Given the description of an element on the screen output the (x, y) to click on. 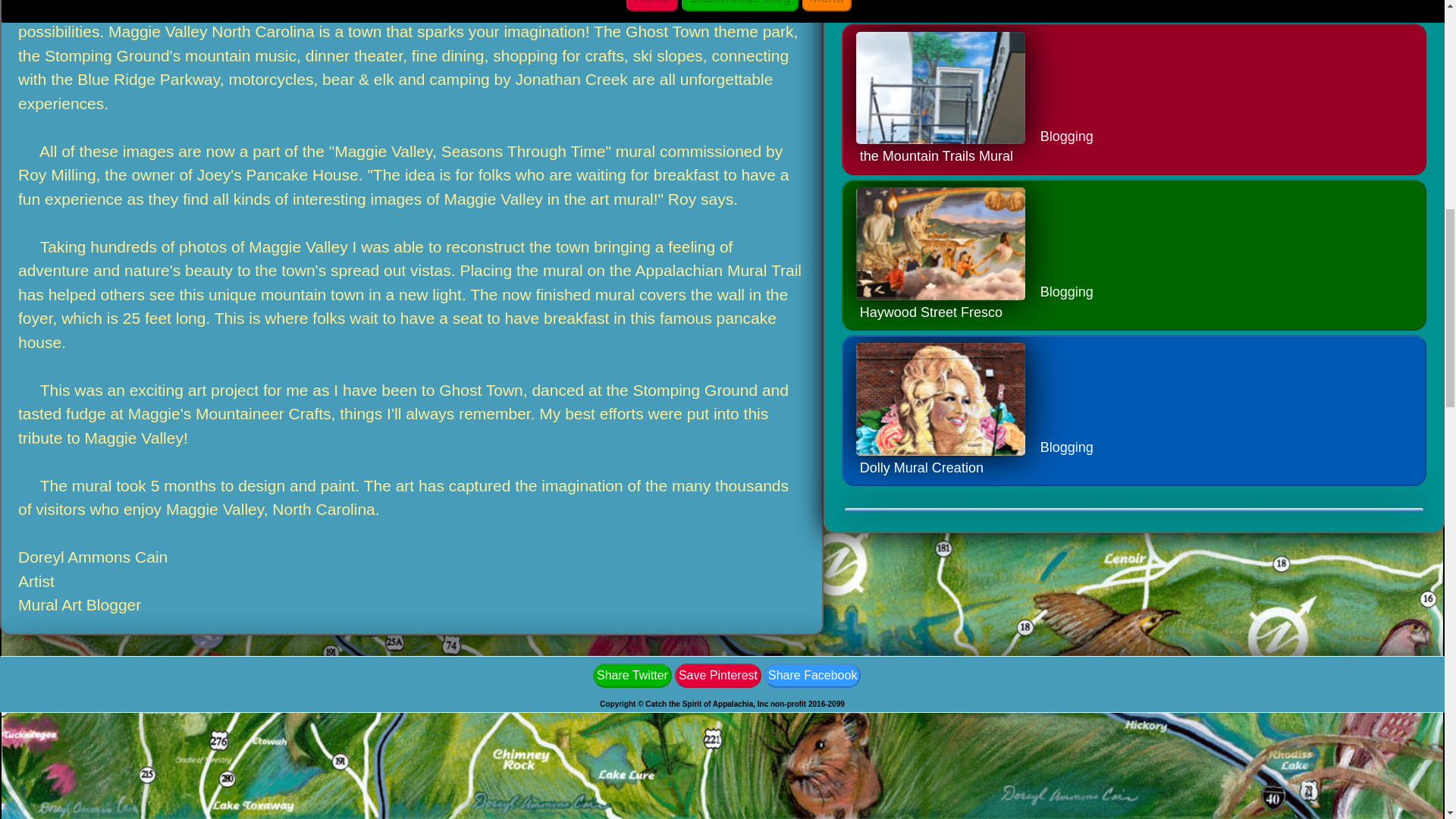
Share Facebook (1133, 98)
Save Pinterest (1133, 422)
Save Pinterest (812, 674)
Share Twitter (718, 674)
Share Twitter (718, 675)
Share Facebook (631, 674)
